Given the description of an element on the screen output the (x, y) to click on. 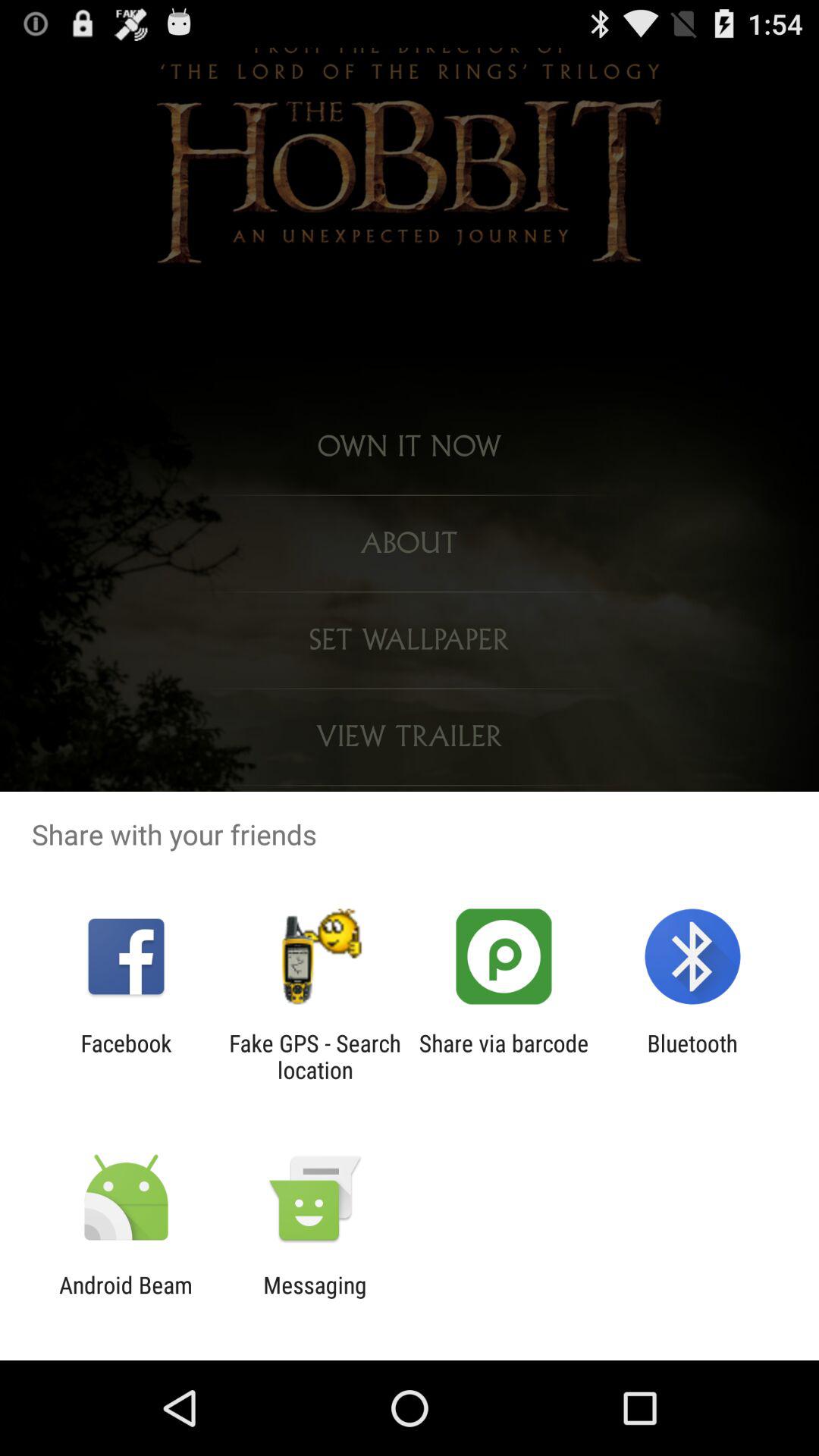
click item to the right of android beam (314, 1298)
